Given the description of an element on the screen output the (x, y) to click on. 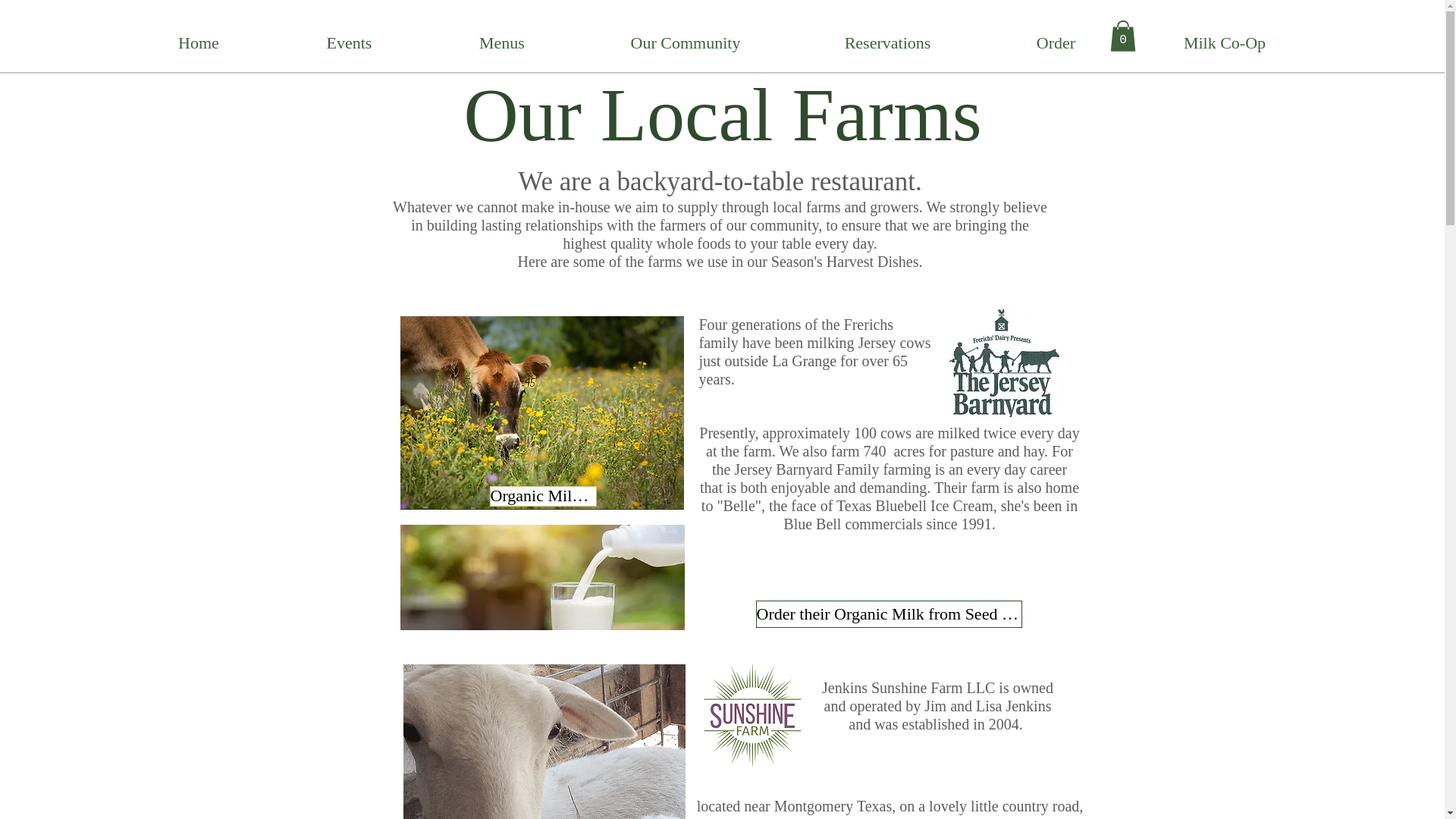
Milk Co-Op (1224, 43)
Menus (501, 43)
Order their Organic Milk from Seed Sowers here! (888, 614)
Our Community (685, 43)
Events (349, 43)
Organic Milk Order (542, 496)
Order (1055, 43)
Home (198, 43)
Reservations (887, 43)
